Given the description of an element on the screen output the (x, y) to click on. 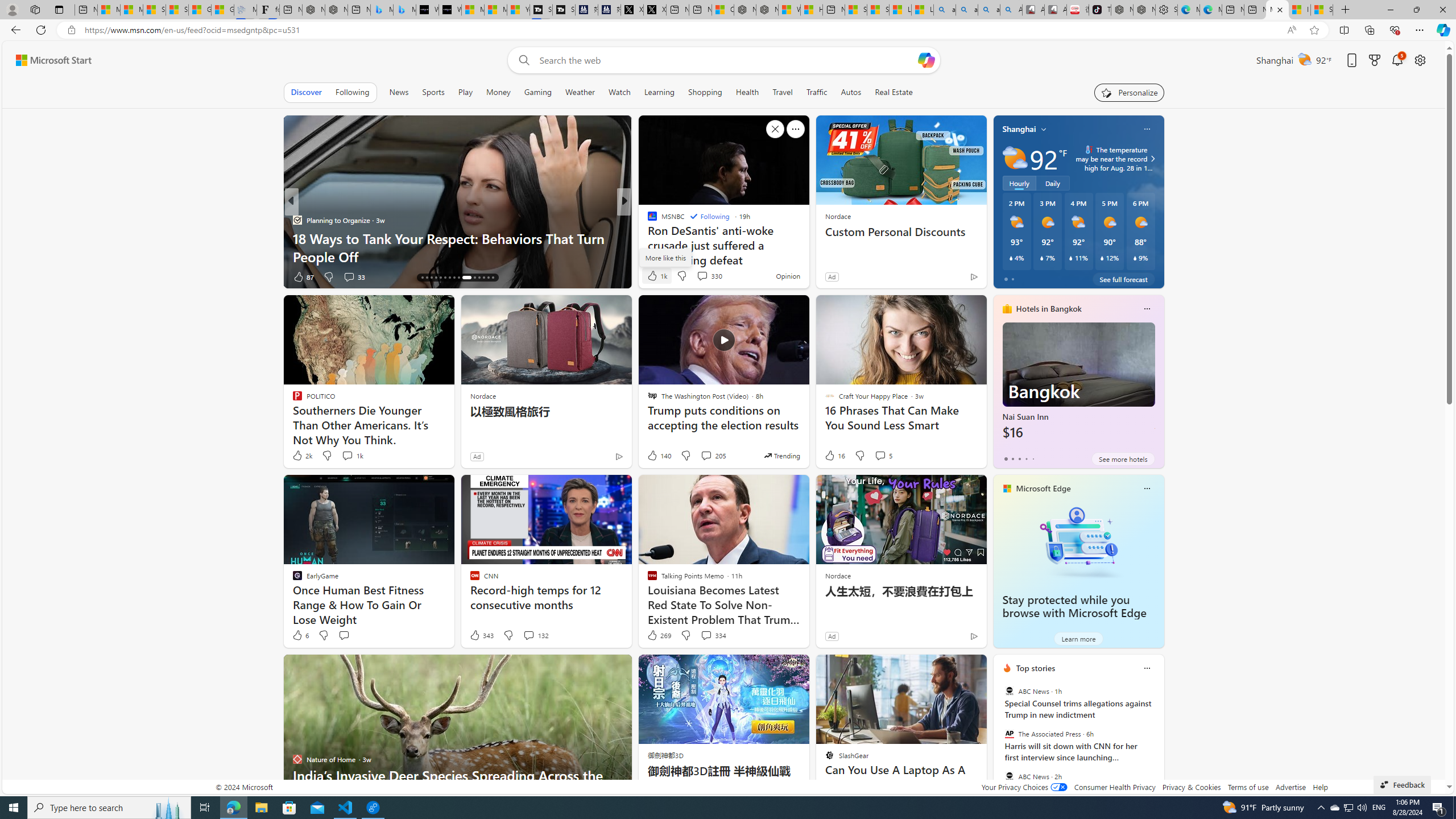
ABC News (1008, 775)
This story is trending (781, 455)
497 Like (654, 276)
Class: weather-current-precipitation-glyph (1134, 257)
Learn more (1078, 638)
Hourly (1018, 183)
Top stories (1035, 668)
269 Like (658, 634)
